Given the description of an element on the screen output the (x, y) to click on. 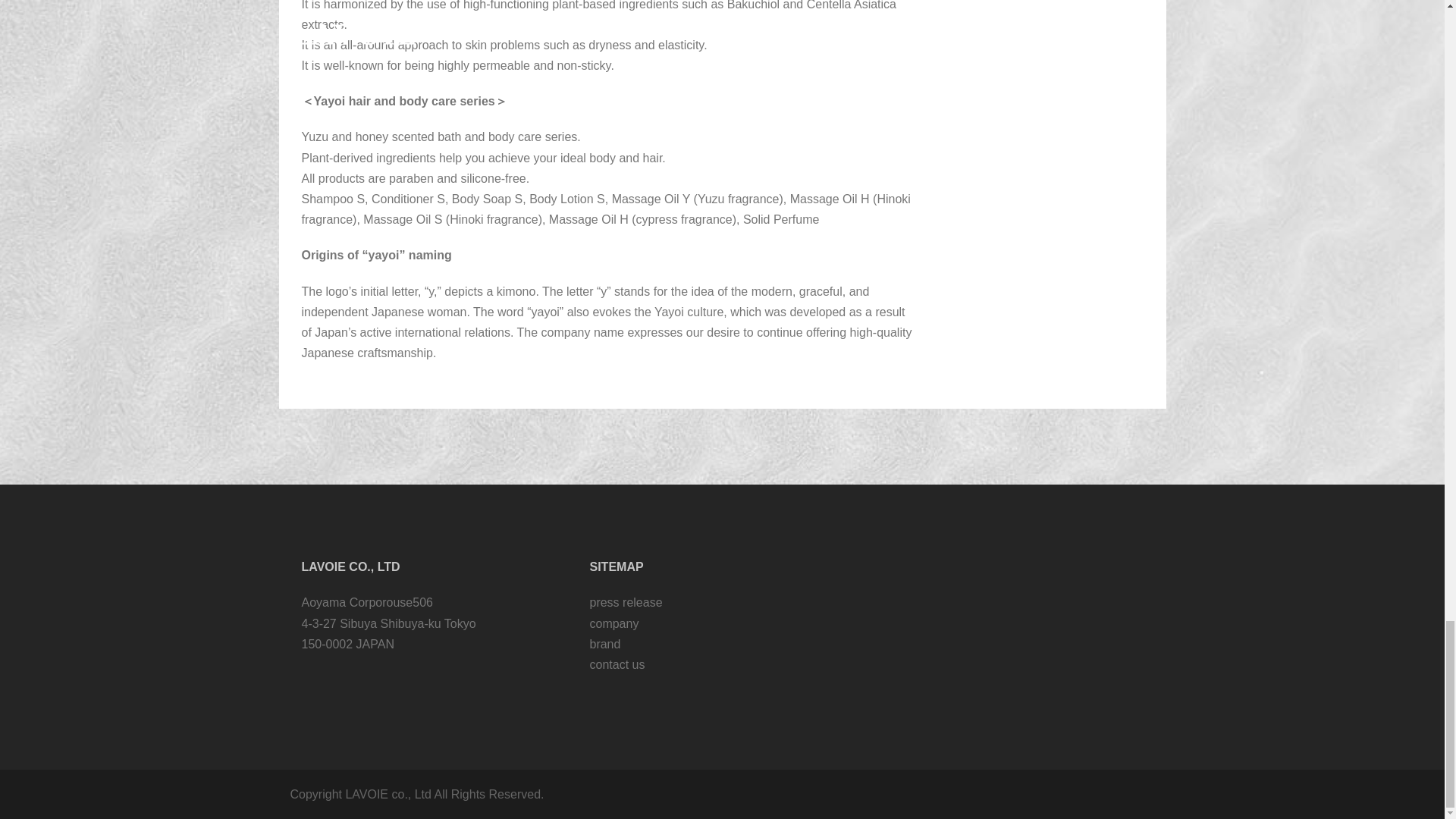
press release (625, 602)
contact us (617, 664)
brand (604, 644)
company (614, 623)
